Given the description of an element on the screen output the (x, y) to click on. 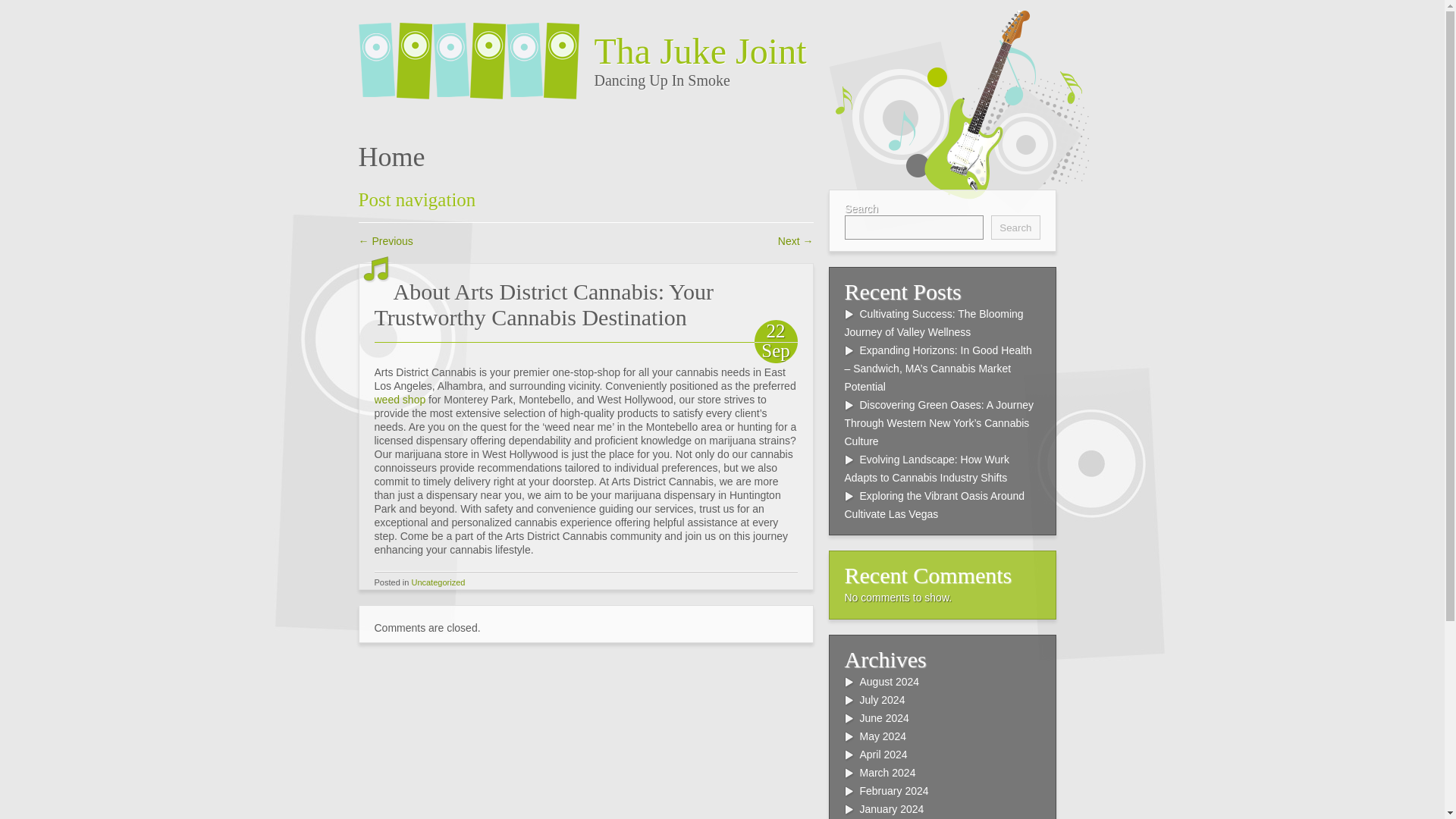
May 2024 (882, 736)
Tha Juke Joint (838, 51)
Tha Juke Joint (476, 51)
weed shop (400, 399)
August 2024 (890, 681)
March 2024 (887, 772)
February 2024 (894, 790)
Search (1015, 227)
January 2024 (892, 808)
